Given the description of an element on the screen output the (x, y) to click on. 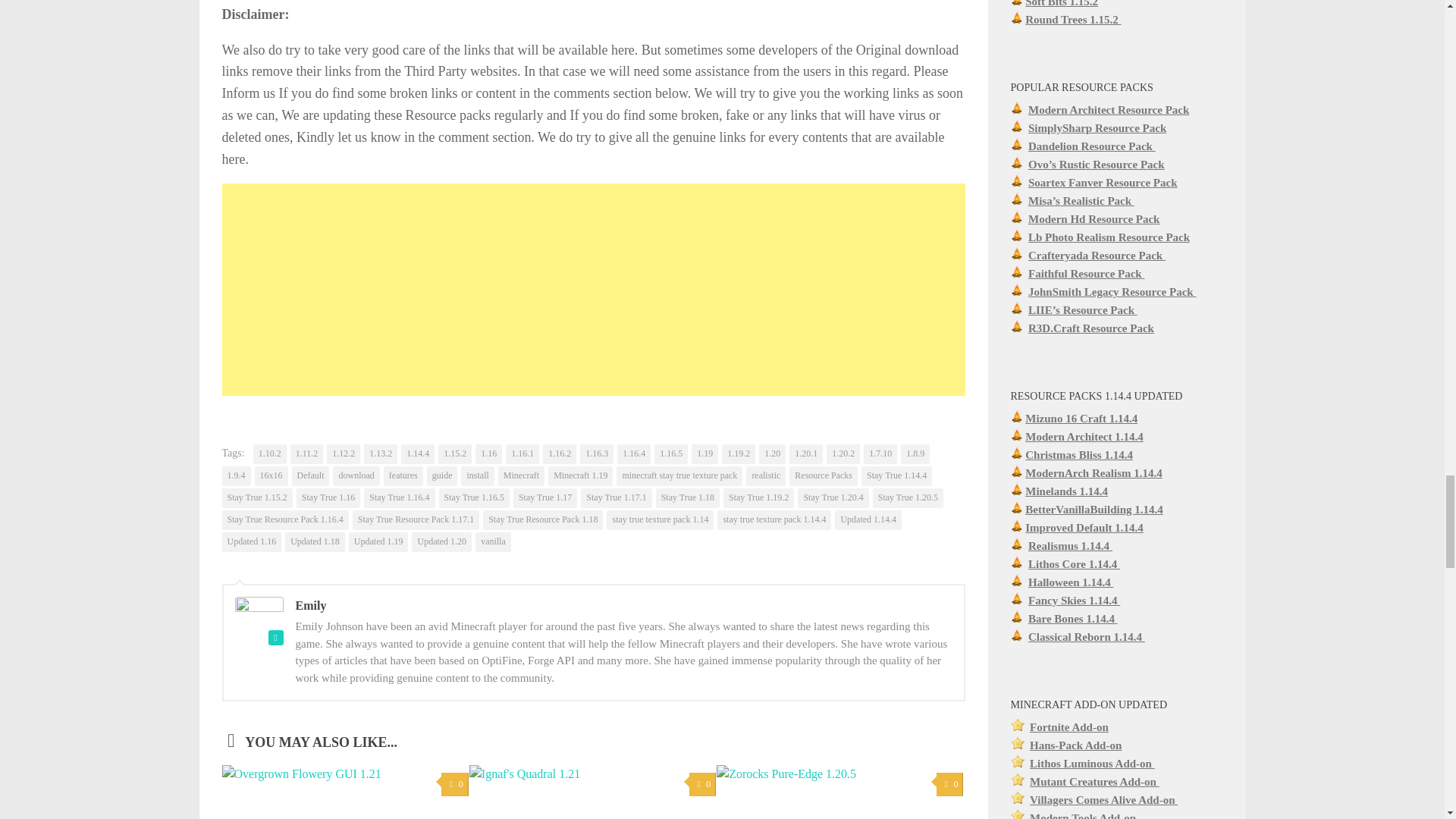
1.16.1 (521, 454)
1.16.2 (559, 454)
1.12.2 (342, 454)
1.16.3 (595, 454)
1.15.2 (454, 454)
1.11.2 (306, 454)
1.10.2 (269, 454)
1.16 (489, 454)
1.14.4 (417, 454)
1.13.2 (380, 454)
